Given the description of an element on the screen output the (x, y) to click on. 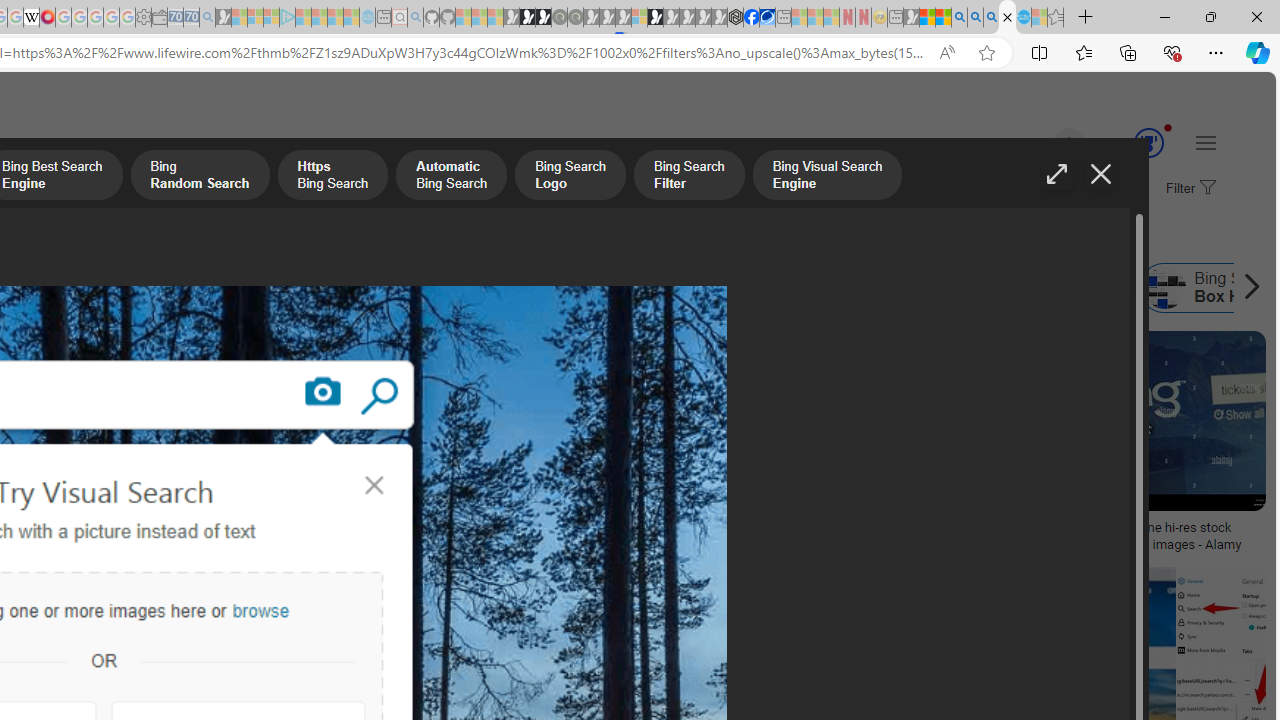
Sign in to your account - Sleeping (639, 17)
Close image (1100, 173)
Bing Best Search Engine (86, 287)
AutomationID: serp_medal_svg (1148, 142)
Old Bing (347, 287)
Bing Search Box History (1165, 287)
Bing Hoodies (132, 460)
Eugene (1041, 143)
Bing Web (910, 287)
